Given the description of an element on the screen output the (x, y) to click on. 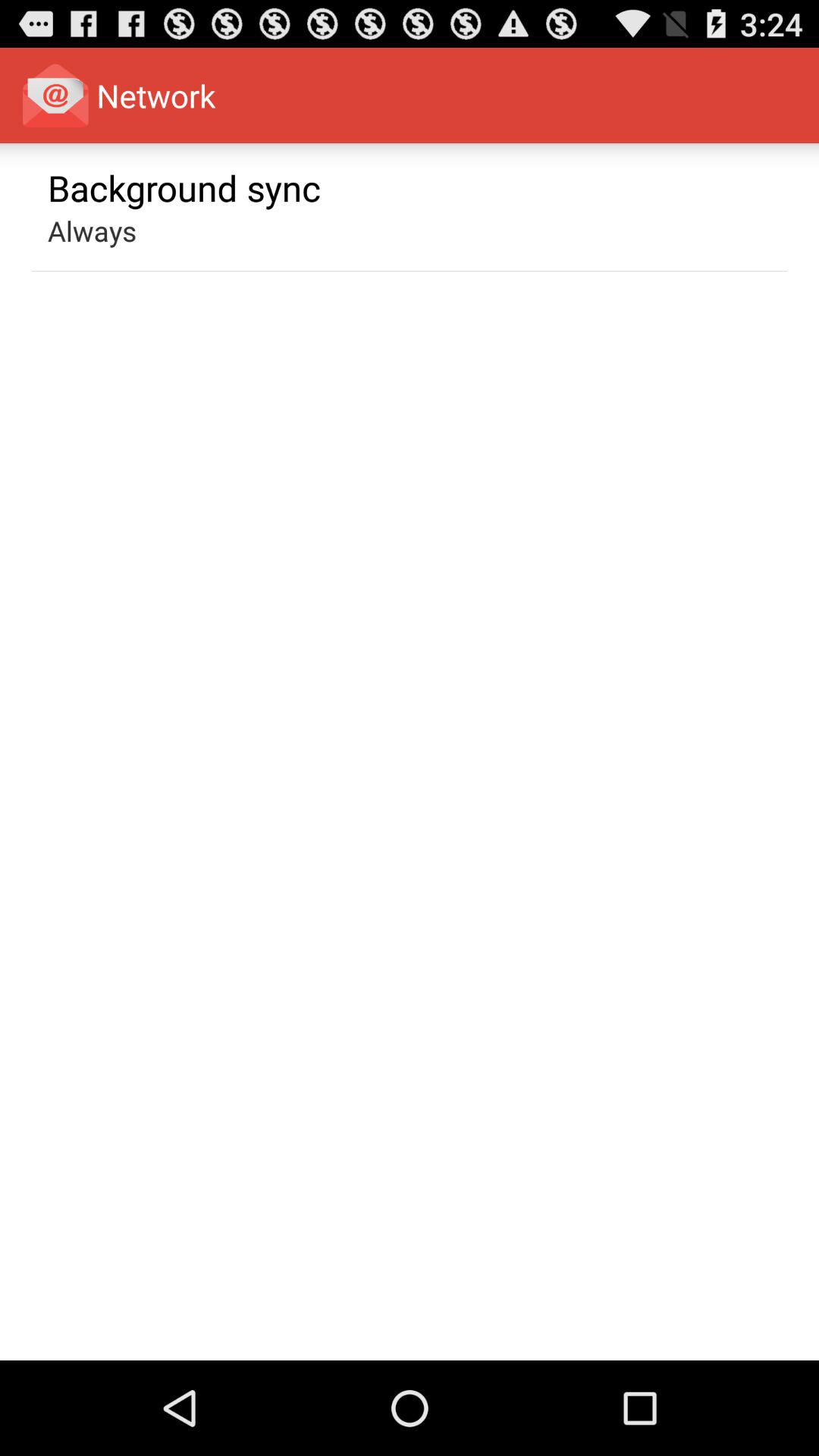
jump to the always app (91, 230)
